Given the description of an element on the screen output the (x, y) to click on. 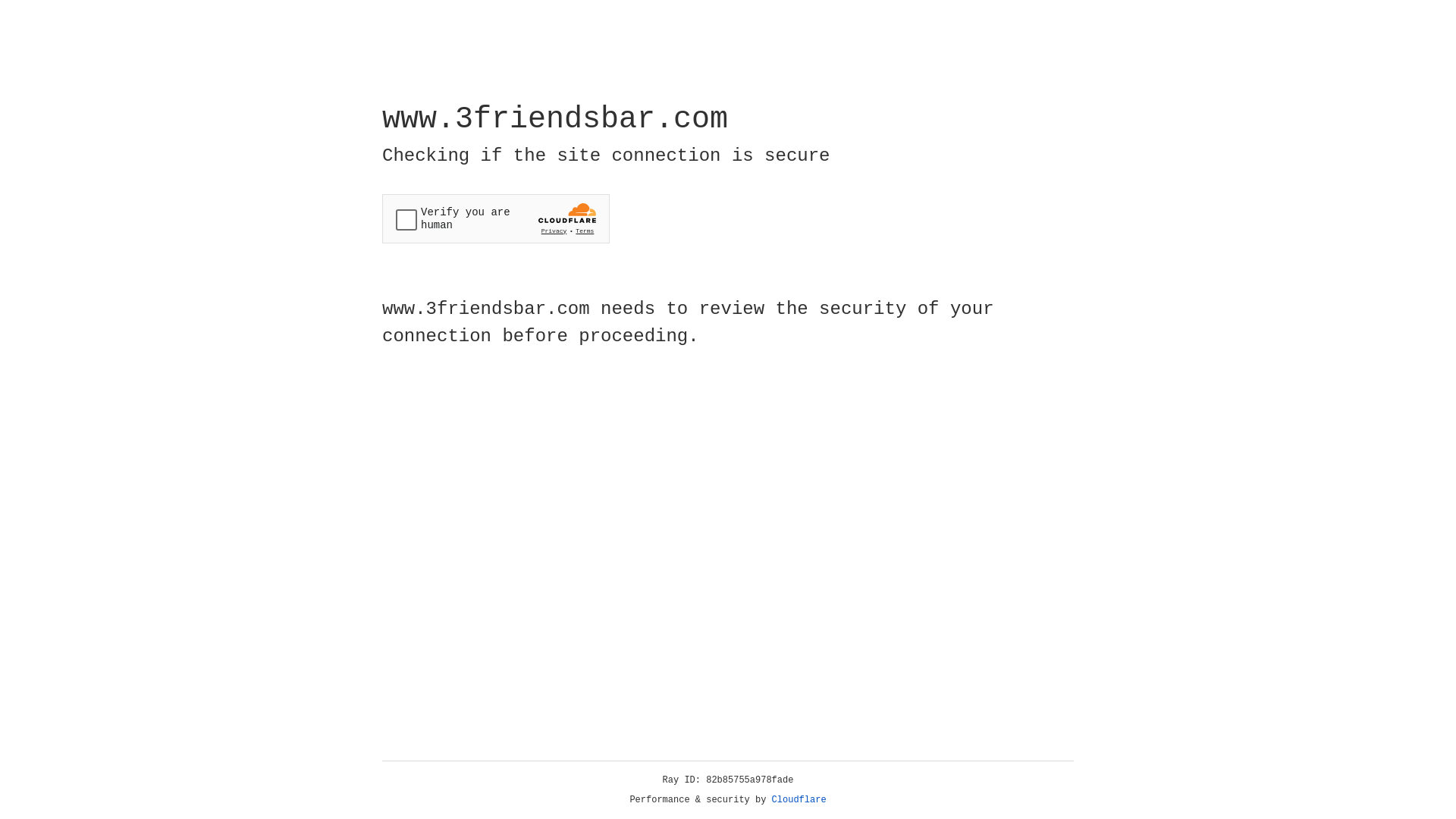
Widget containing a Cloudflare security challenge Element type: hover (495, 218)
Cloudflare Element type: text (798, 799)
